Given the description of an element on the screen output the (x, y) to click on. 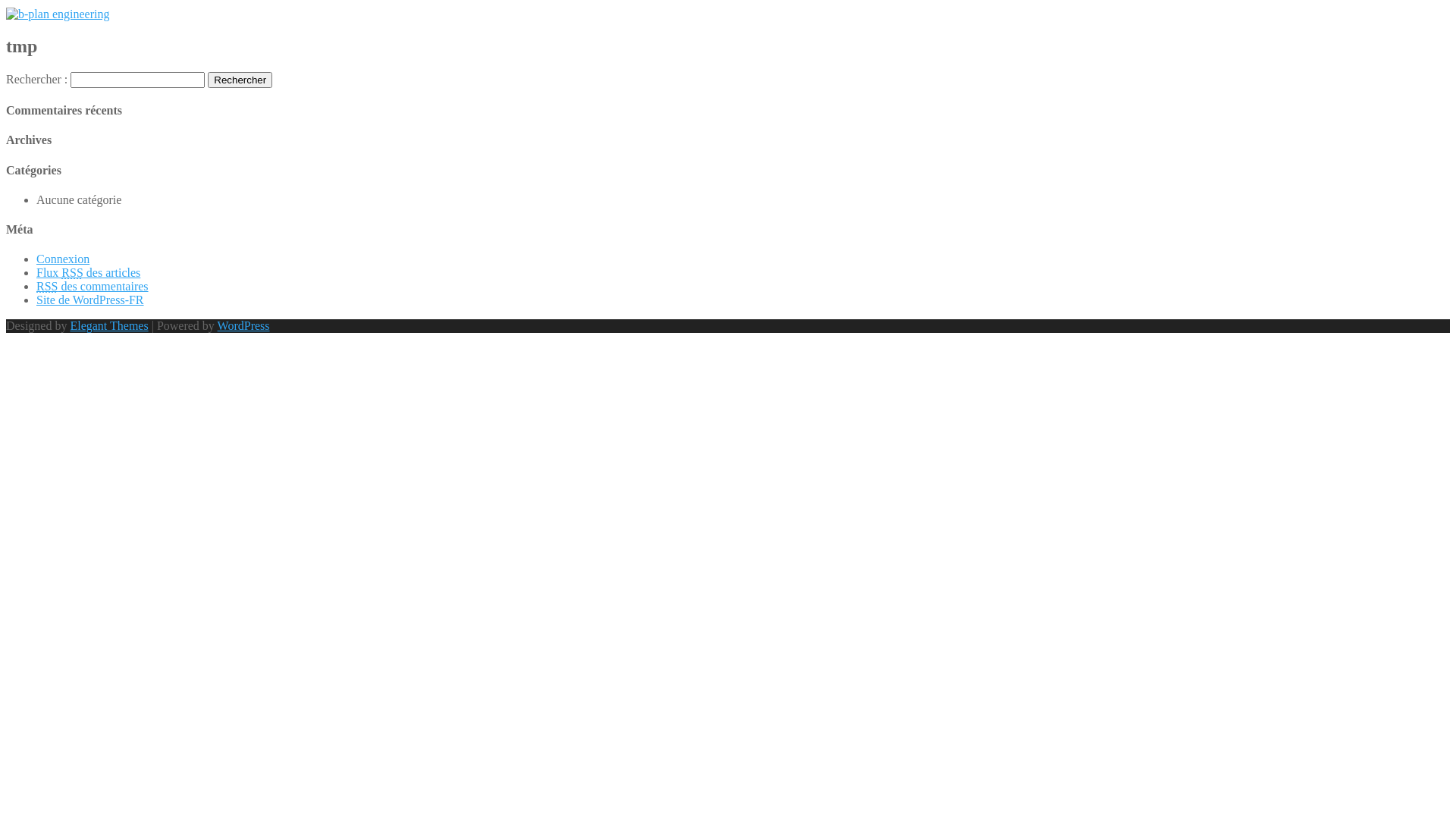
Site de WordPress-FR Element type: text (90, 299)
Rechercher Element type: text (239, 79)
RSS des commentaires Element type: text (92, 285)
Connexion Element type: text (62, 258)
WordPress Element type: text (243, 325)
Flux RSS des articles Element type: text (88, 272)
Elegant Themes Element type: text (108, 325)
